Given the description of an element on the screen output the (x, y) to click on. 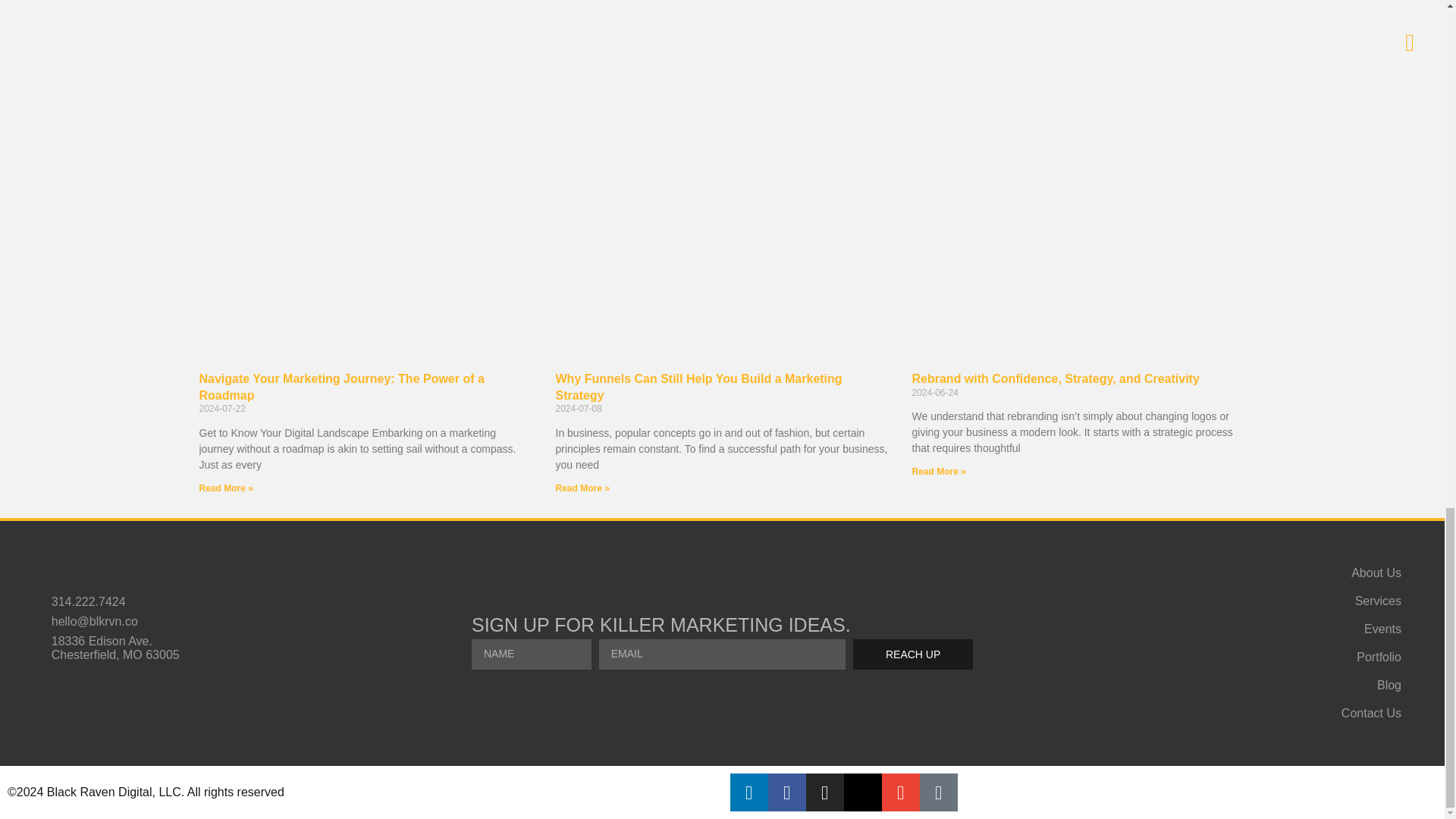
Portfolio (1272, 657)
314.222.7424 (168, 602)
Services (1272, 601)
Rebrand with Confidence, Strategy, and Creativity (1054, 378)
Events (1272, 629)
Contact Us (1272, 713)
About Us (1272, 572)
REACH UP (912, 654)
Why Funnels Can Still Help You Build a Marketing Strategy (697, 387)
Navigate Your Marketing Journey: The Power of a Roadmap (340, 387)
